Given the description of an element on the screen output the (x, y) to click on. 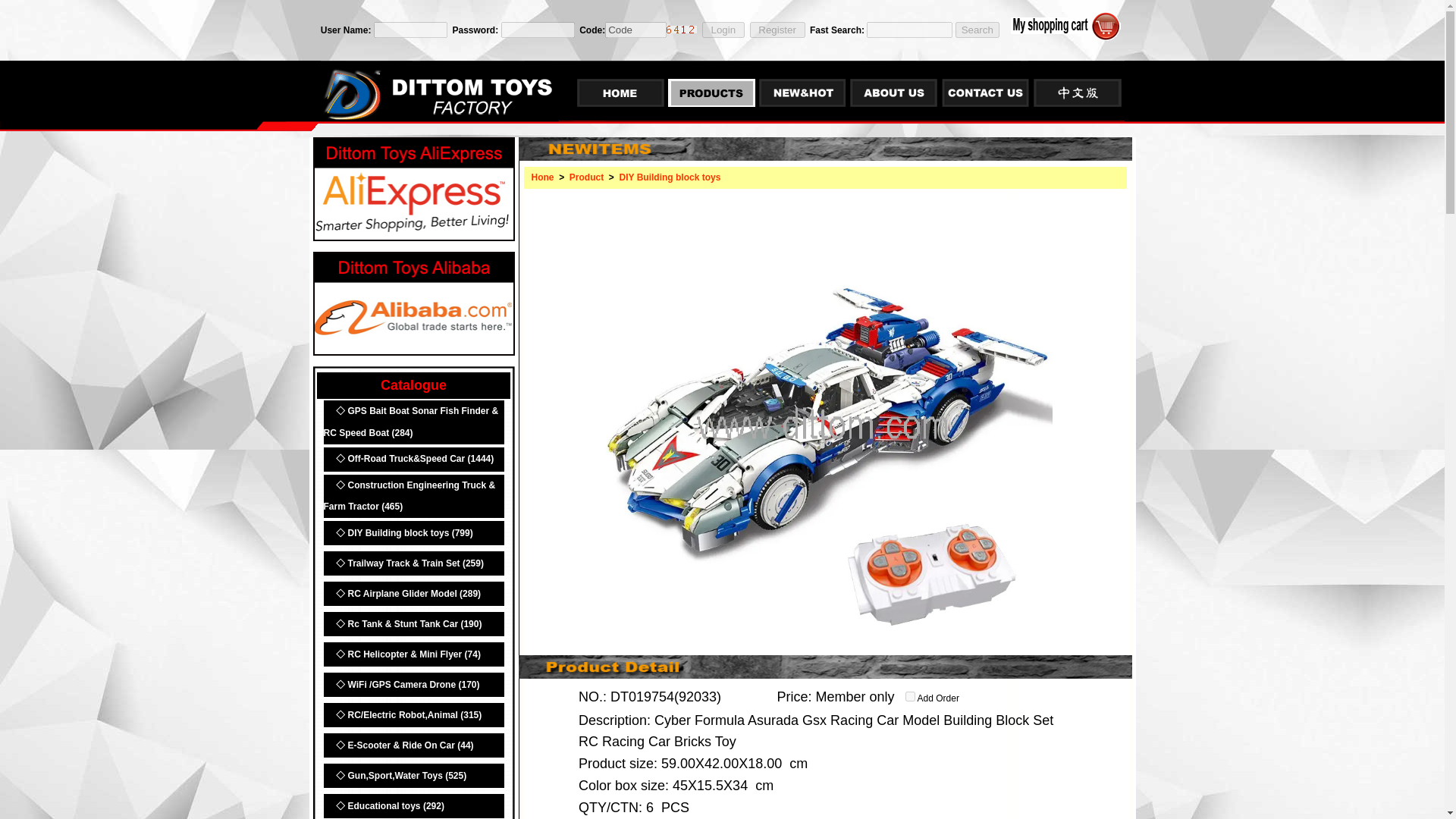
Search (976, 29)
 Register  (777, 29)
Product (586, 176)
Code (635, 29)
  DIY Building block toys (667, 176)
Search (976, 29)
Hone (542, 176)
10985 (910, 696)
 Login  (722, 29)
 Login  (722, 29)
